Given the description of an element on the screen output the (x, y) to click on. 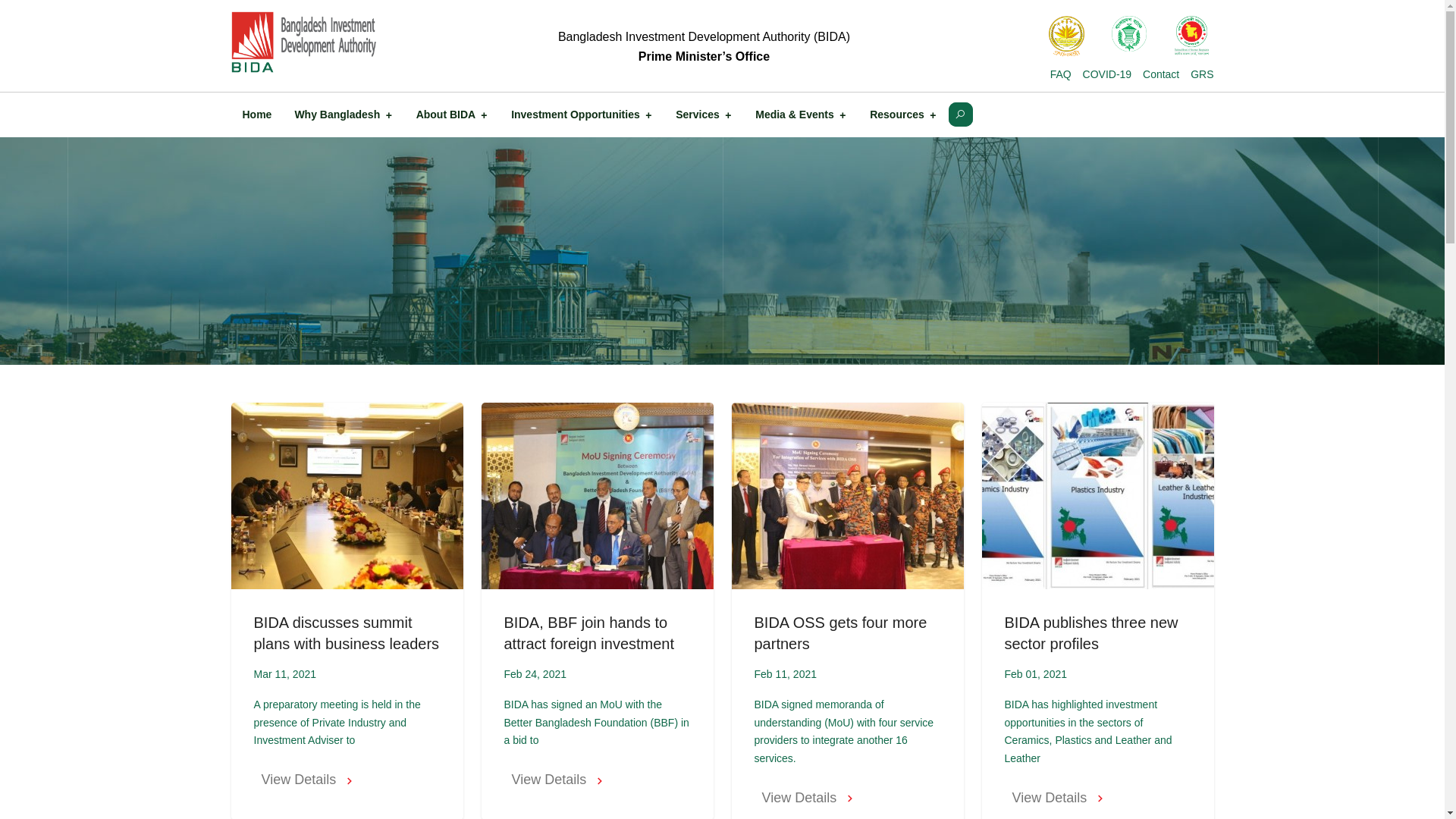
About BIDA Element type: text (452, 114)
Resources Element type: text (903, 114)
FAQ Element type: text (1060, 74)
Media & Events Element type: text (801, 114)
Contact Element type: text (1160, 74)
Why Bangladesh Element type: text (343, 114)
Investment Opportunities Element type: text (581, 114)
Home Element type: text (257, 114)
National Board of Revenue Element type: hover (1191, 36)
Bangladesh Bank Element type: hover (1129, 36)
View Details Element type: text (596, 779)
View Details Element type: text (346, 779)
COVID-19 Element type: text (1107, 74)
View Details Element type: text (846, 797)
GRS Element type: text (1201, 74)
Prime Minister Office Element type: hover (1066, 36)
View Details Element type: text (1097, 797)
Services Element type: text (703, 114)
GO Element type: text (959, 114)
